Given the description of an element on the screen output the (x, y) to click on. 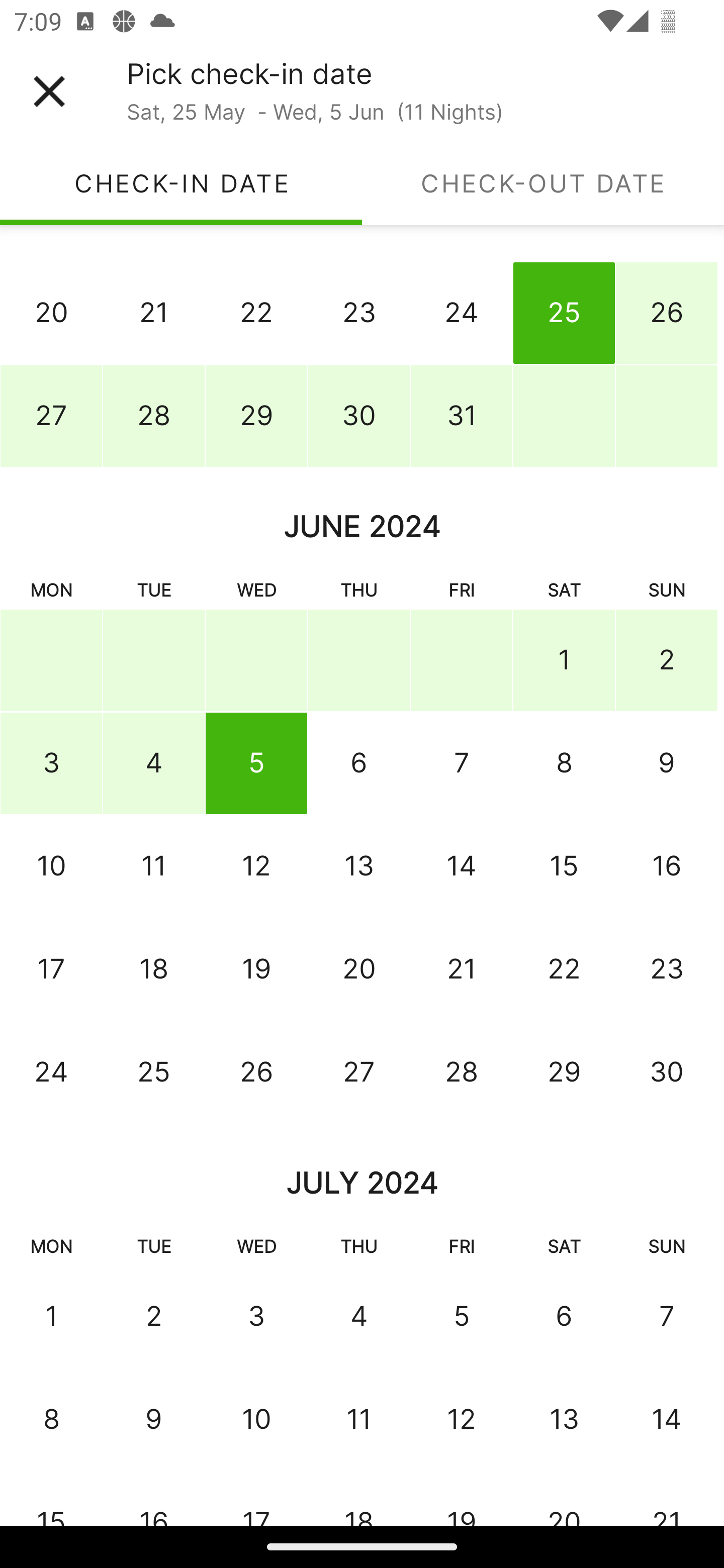
Check-out Date CHECK-OUT DATE (543, 183)
